Given the description of an element on the screen output the (x, y) to click on. 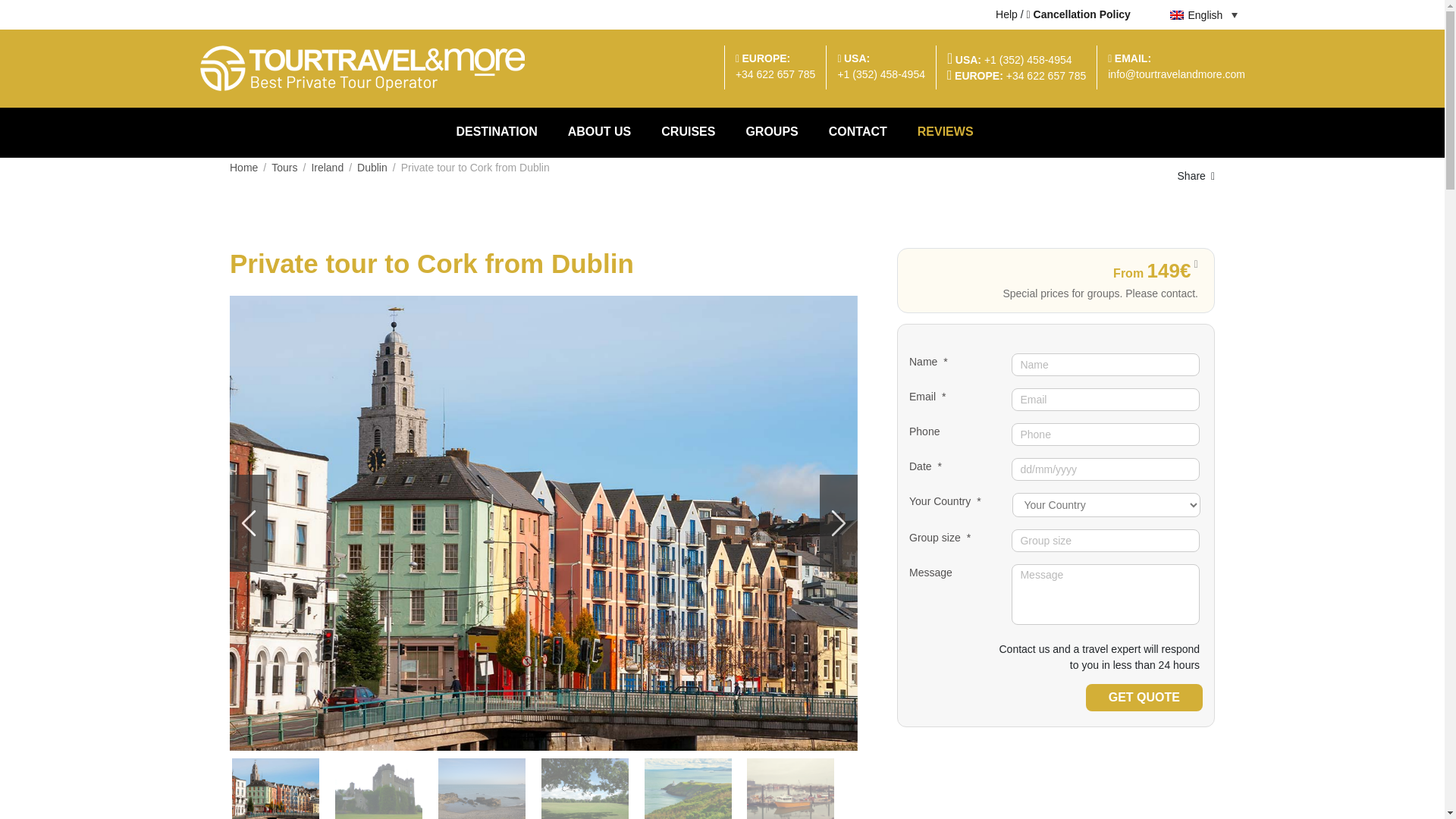
Help (1006, 14)
REVIEWS (945, 132)
Ireland (327, 167)
Dublin (371, 167)
English (1202, 14)
Tours (283, 167)
CONTACT (857, 132)
Home (243, 167)
GROUPS (771, 132)
DESTINATION (503, 132)
